Given the description of an element on the screen output the (x, y) to click on. 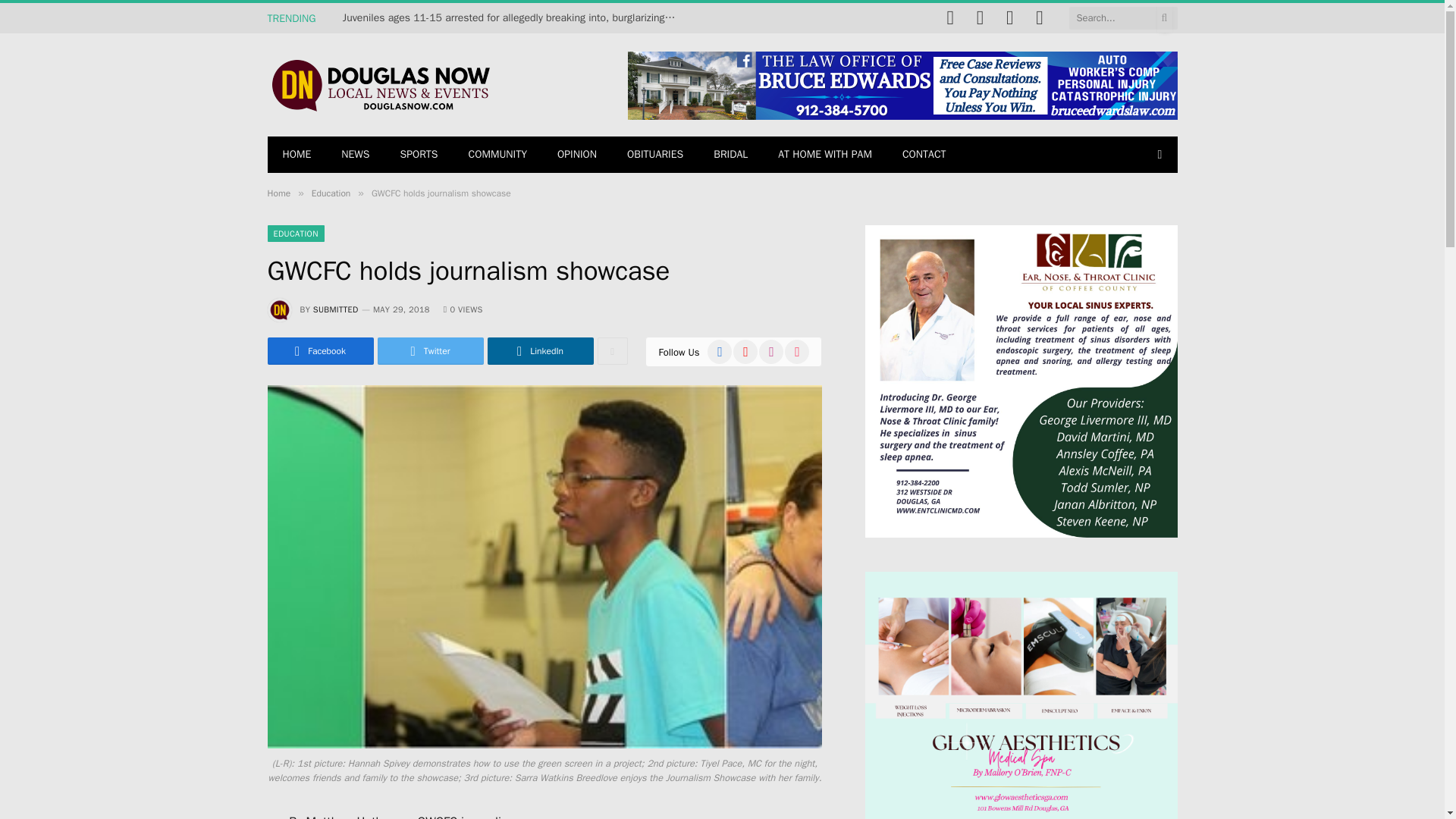
Switch to Dark Design - easier on eyes. (1158, 154)
TikTok (1038, 18)
0 Article Views (463, 308)
Share on Facebook (319, 350)
Share on LinkedIn (539, 350)
OPINION (576, 154)
Douglas Now (379, 85)
YouTube (980, 18)
SPORTS (418, 154)
